Given the description of an element on the screen output the (x, y) to click on. 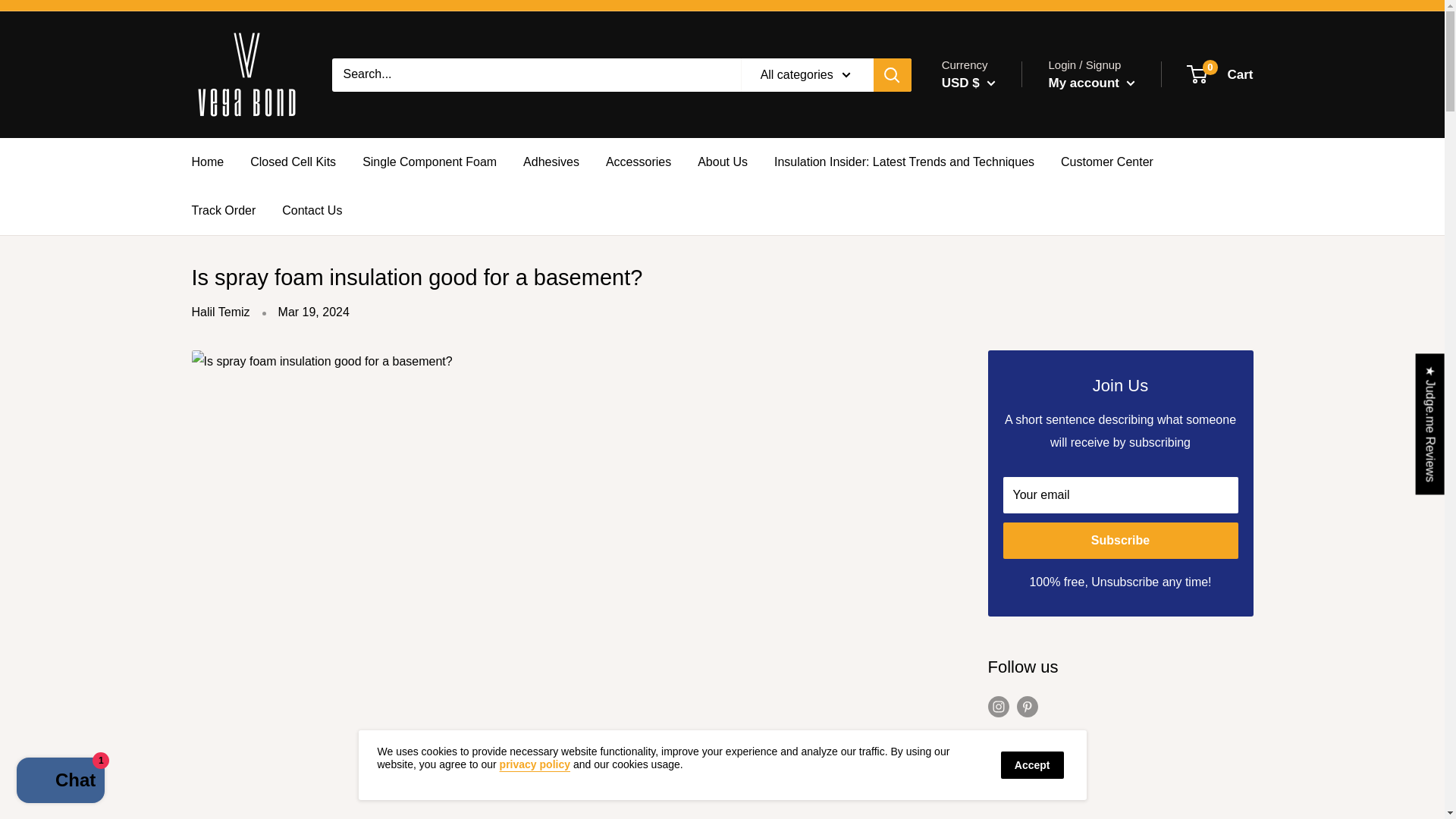
Home (207, 161)
My account (1091, 83)
Privacy Policy (534, 764)
CAD (980, 124)
USD (980, 146)
Closed Cell Kits (1220, 74)
Shopify online store chat (293, 161)
